Given the description of an element on the screen output the (x, y) to click on. 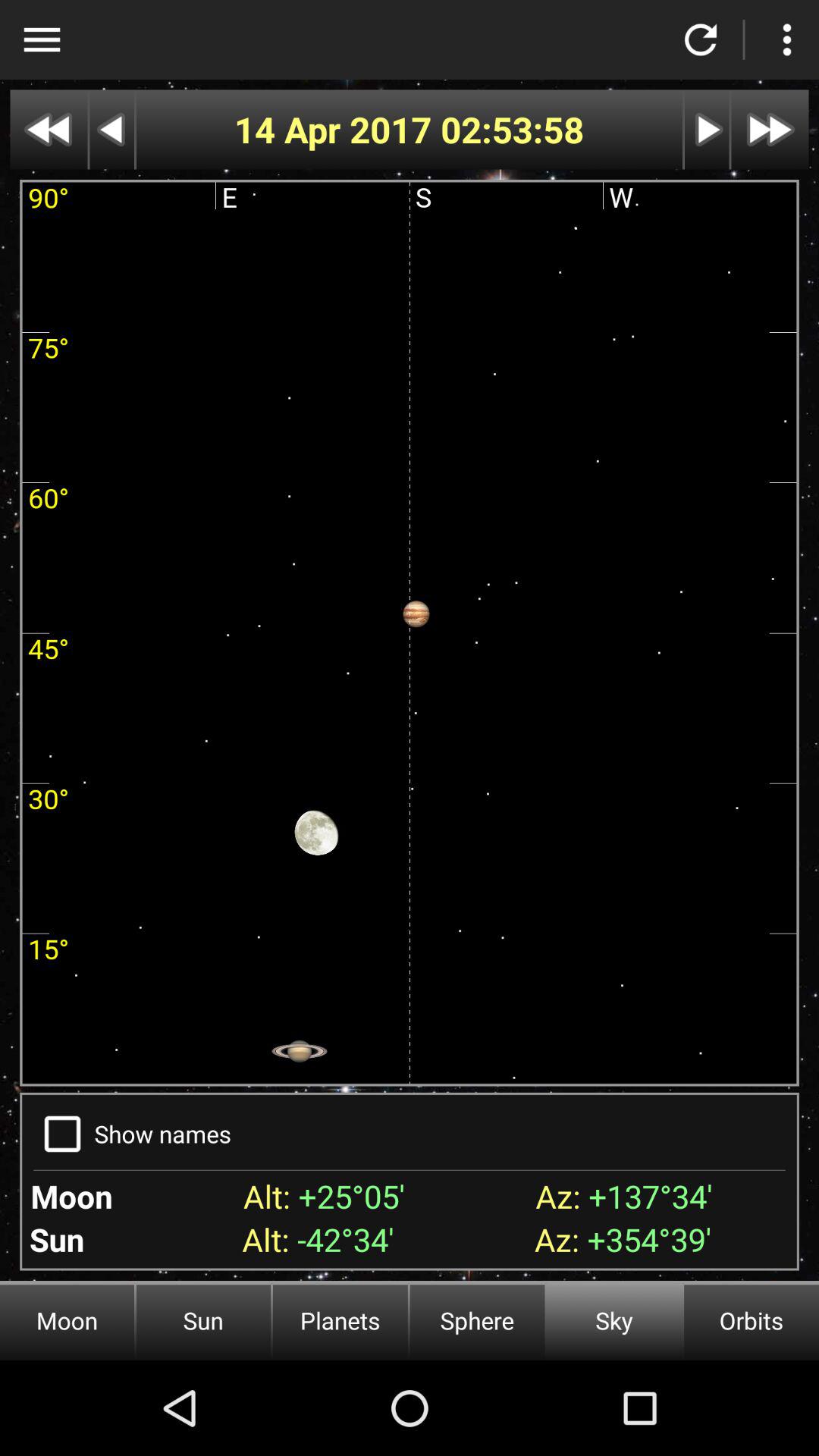
open more options or settings (787, 39)
